Given the description of an element on the screen output the (x, y) to click on. 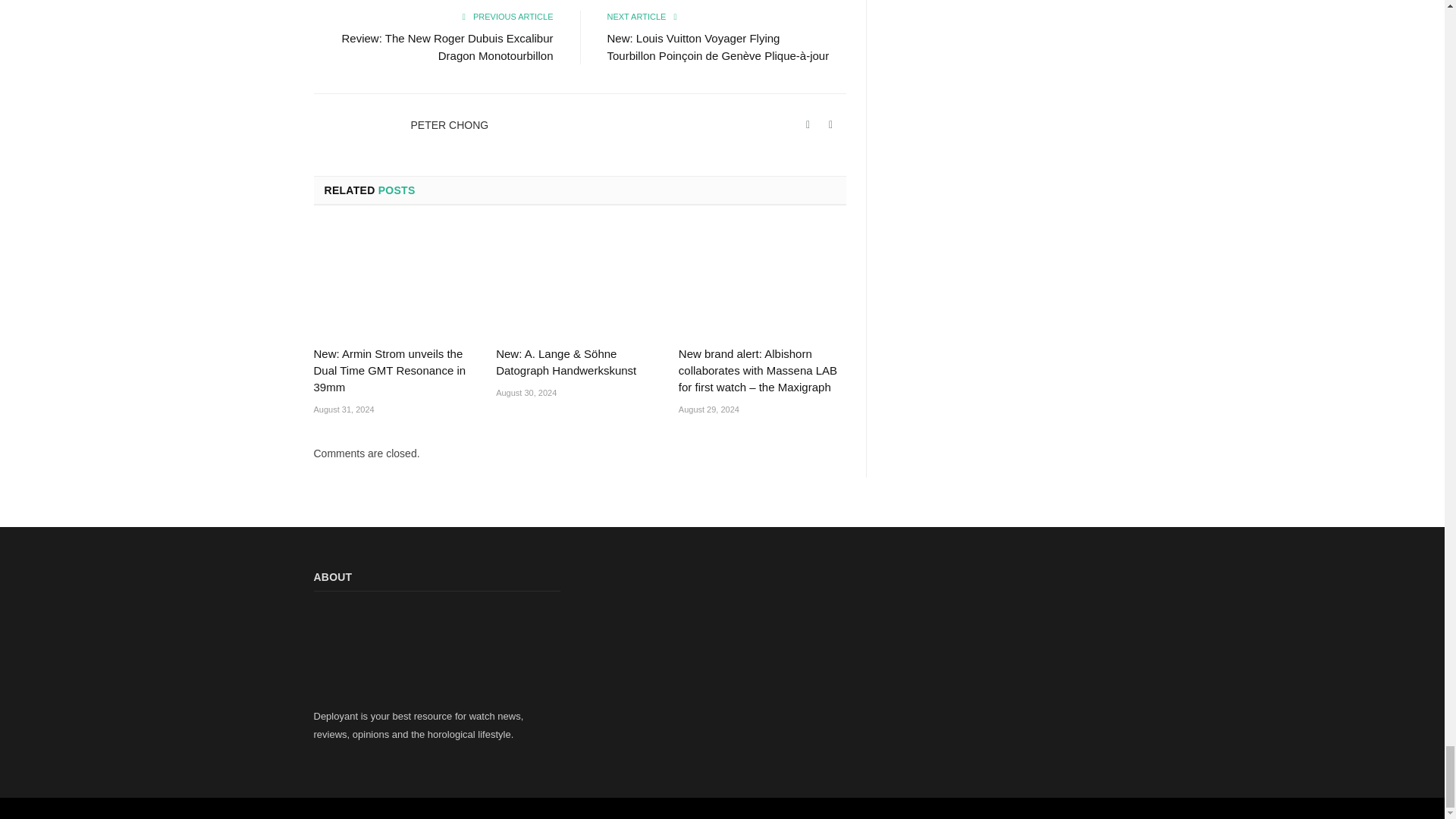
Twitter (831, 124)
Review: The New Roger Dubuis Excalibur Dragon Monotourbillon (446, 46)
Website (807, 124)
PETER CHONG (449, 124)
New: Armin Strom unveils the Dual Time GMT Resonance in 39mm (397, 280)
Twitter (831, 124)
Website (807, 124)
Posts by Peter Chong (449, 124)
